Given the description of an element on the screen output the (x, y) to click on. 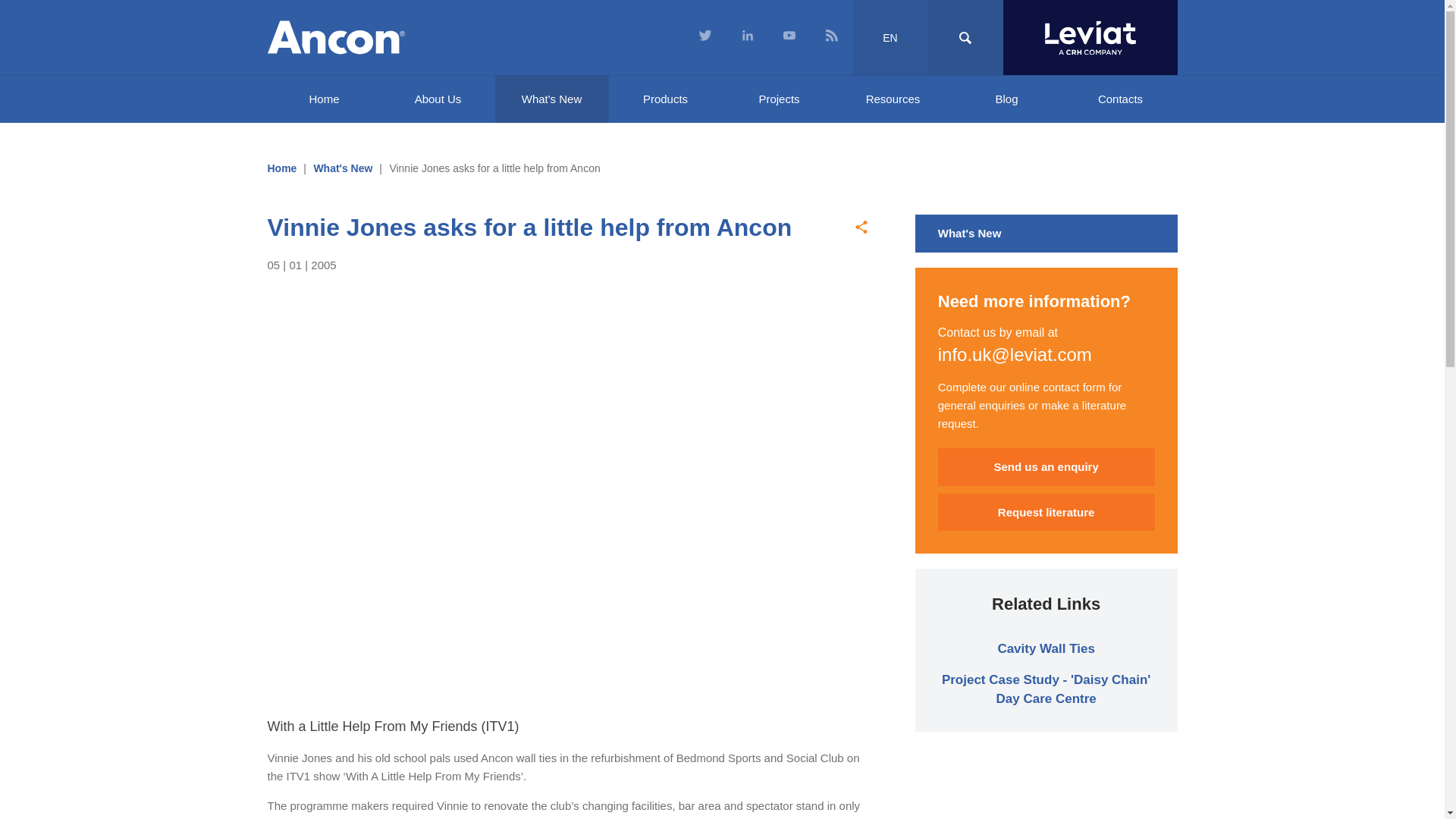
Send us an enquiry (1045, 466)
Home (323, 99)
Home (281, 168)
Projects (778, 99)
Request literature (1045, 512)
Contacts (1119, 99)
What's New (551, 99)
EN (889, 37)
Resources (892, 99)
Cavity Wall Ties (1045, 648)
